Given the description of an element on the screen output the (x, y) to click on. 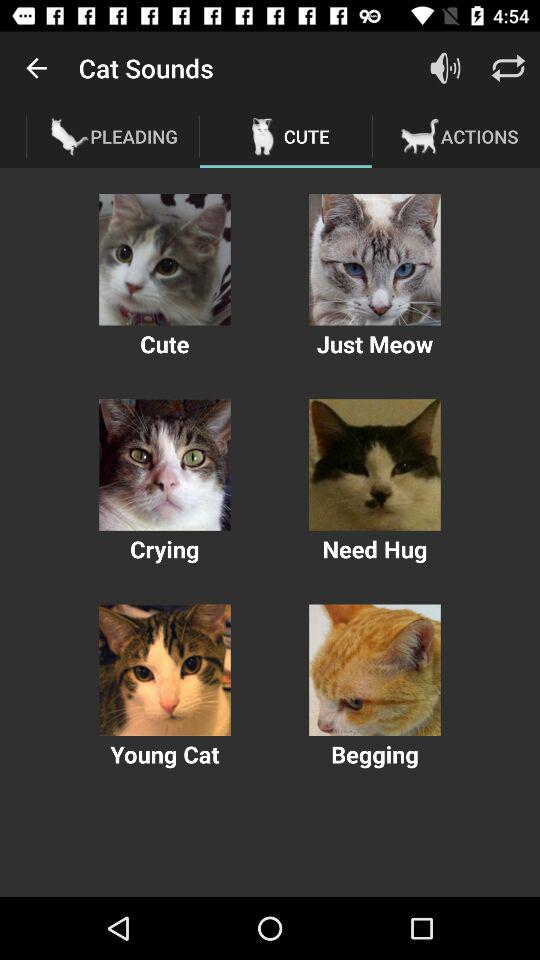
plays sound of cat begging (374, 669)
